Given the description of an element on the screen output the (x, y) to click on. 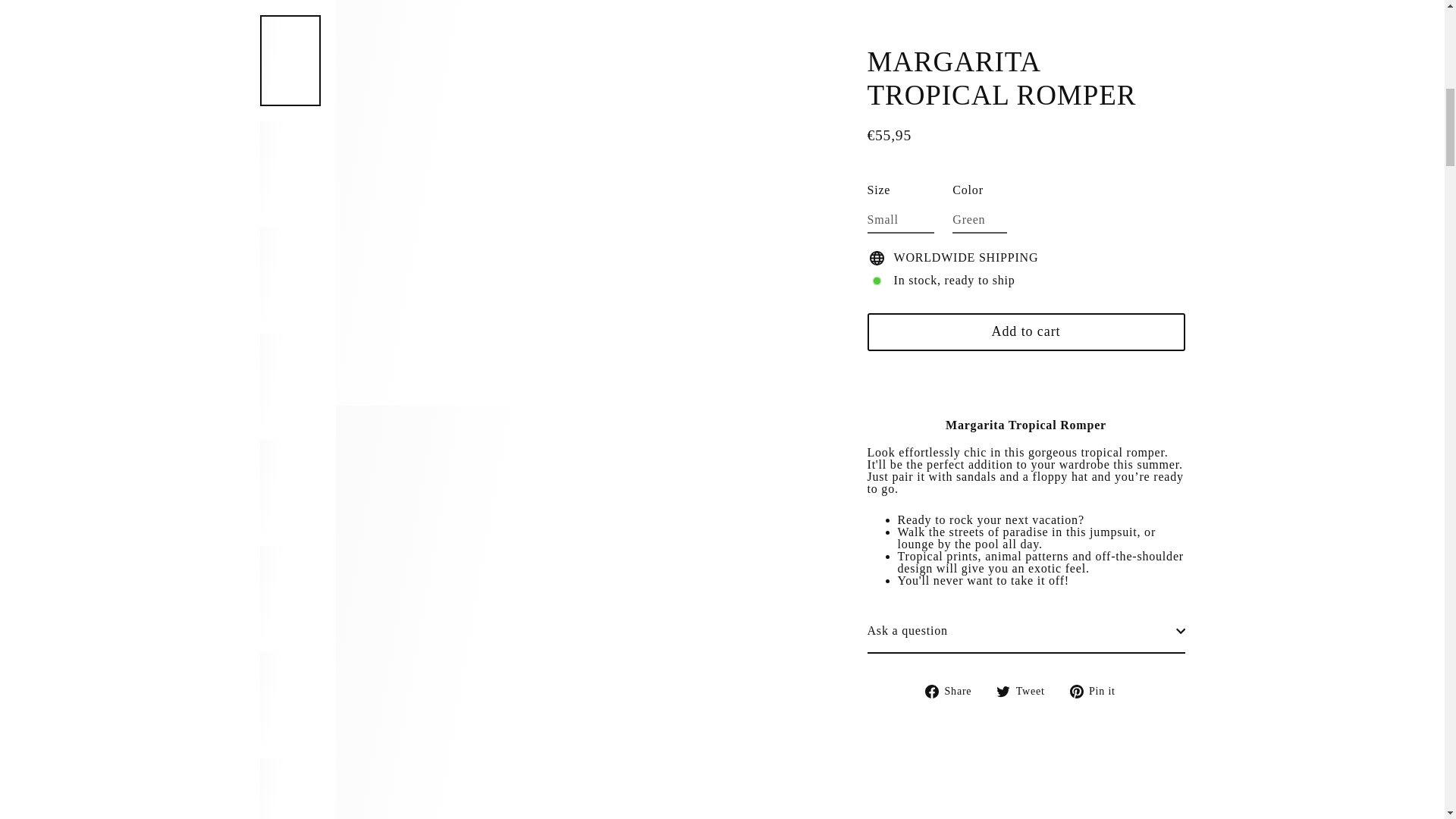
Share on Facebook (953, 396)
Pin on Pinterest (1098, 396)
Tweet on Twitter (1025, 396)
